Given the description of an element on the screen output the (x, y) to click on. 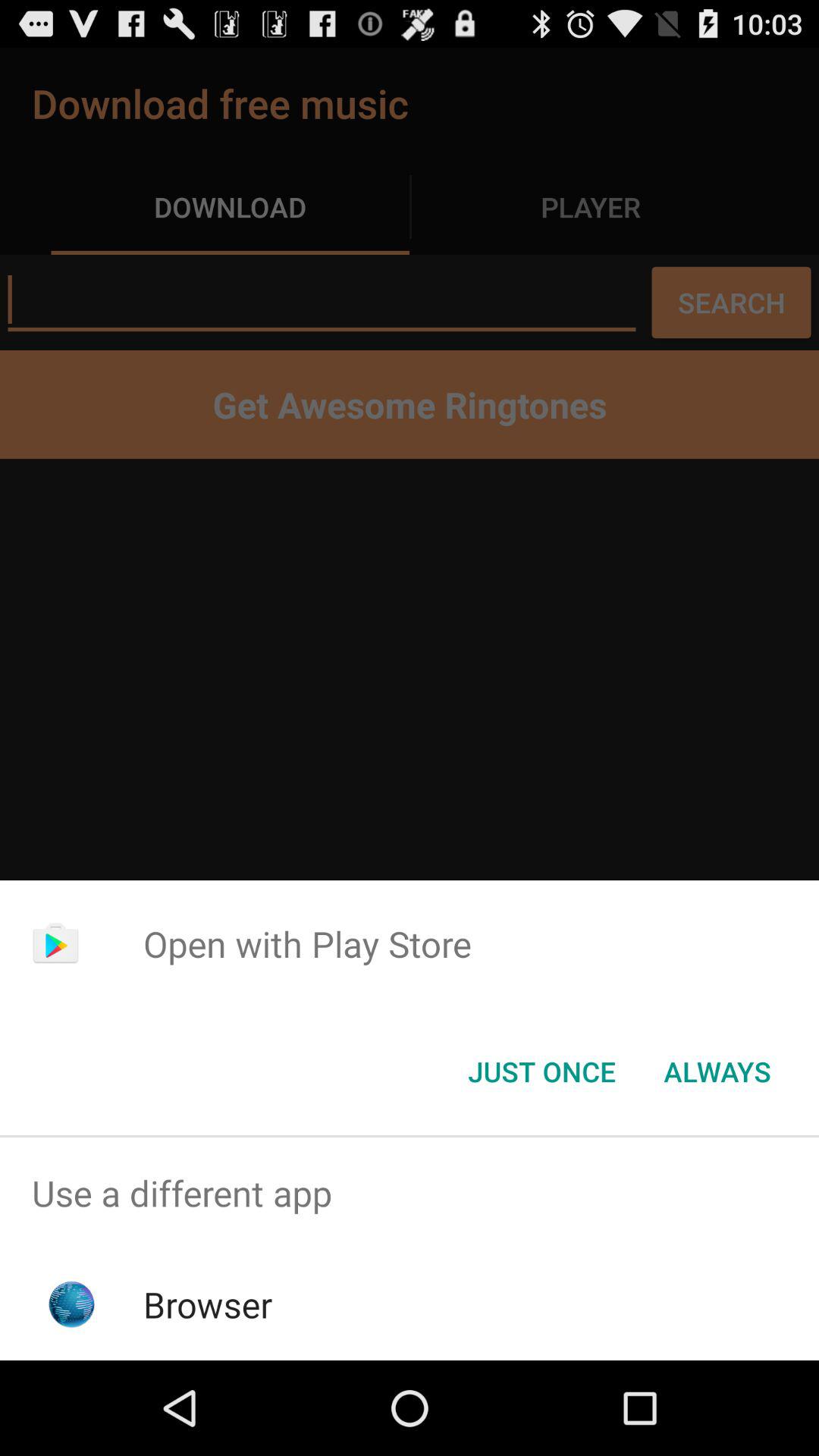
select the item to the left of the always (541, 1071)
